Given the description of an element on the screen output the (x, y) to click on. 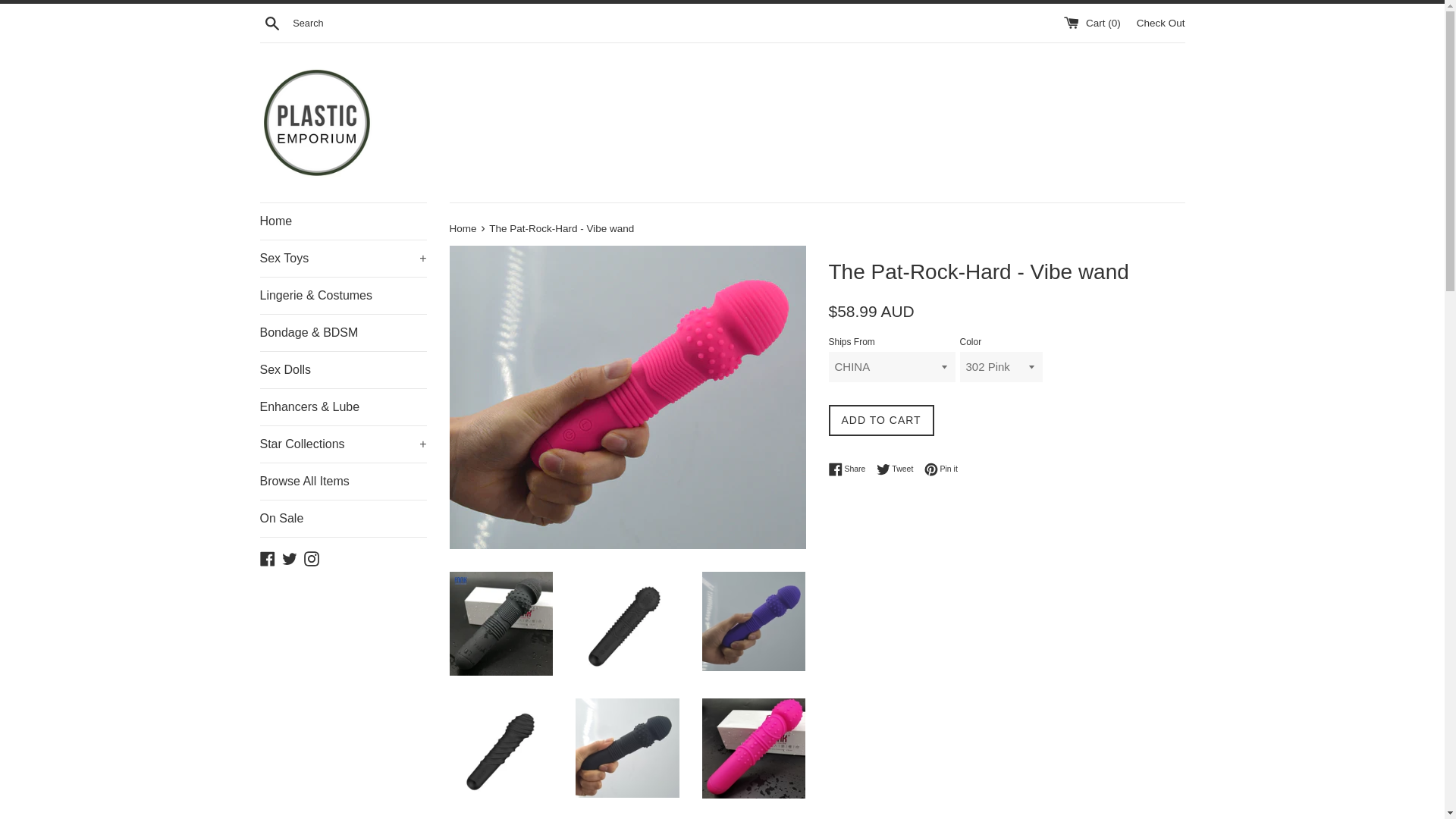
Tweet on Twitter (898, 468)
Plastic Emporium on Twitter (289, 557)
Share on Facebook (850, 468)
Instagram (311, 557)
On Sale (342, 518)
Plastic Emporium on Facebook (267, 557)
Home (463, 228)
Facebook (267, 557)
Search (271, 21)
Sex Dolls (342, 370)
